Given the description of an element on the screen output the (x, y) to click on. 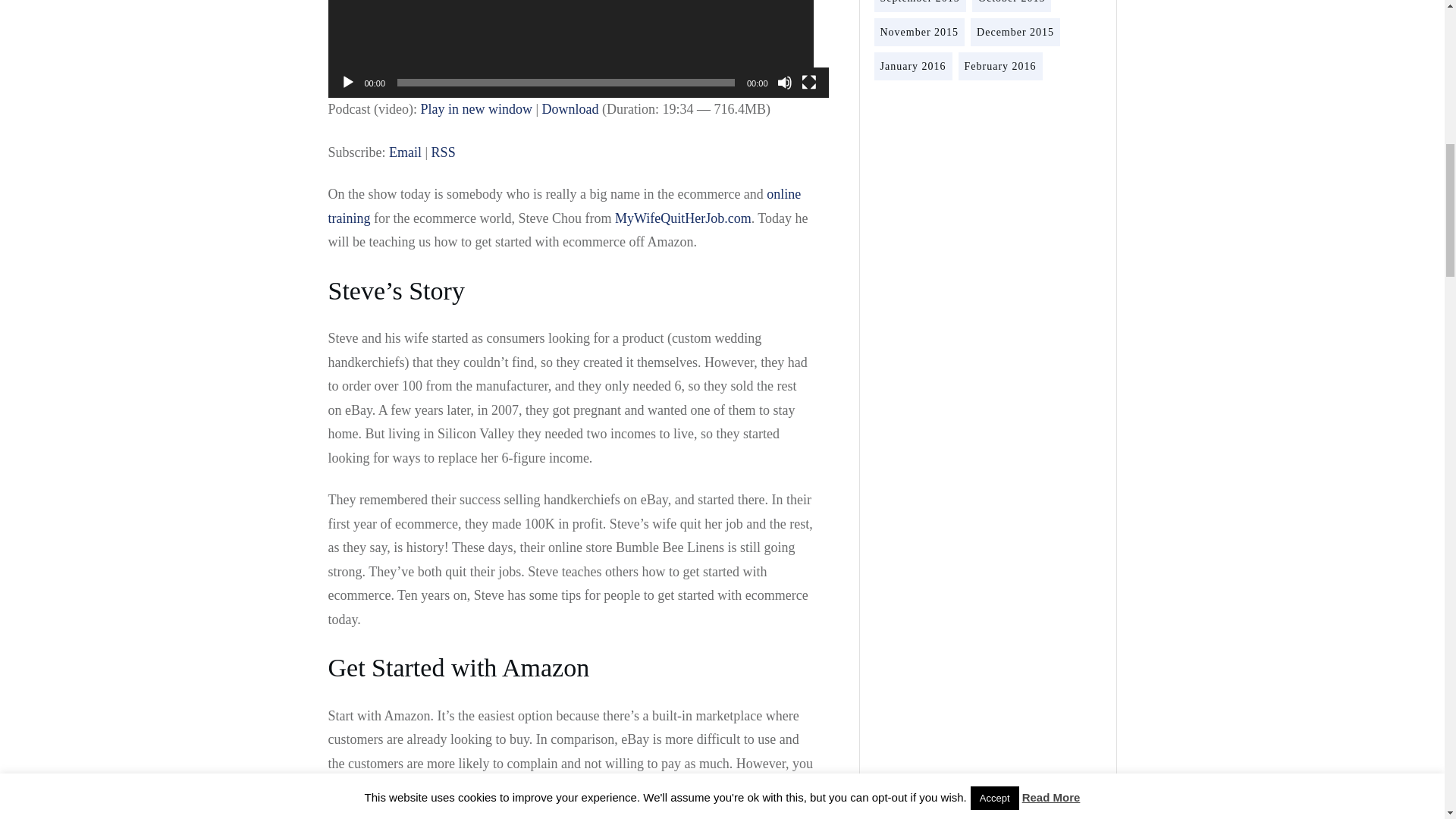
Mute (784, 82)
Subscribe via RSS (442, 151)
Play in new window (476, 109)
Download (569, 109)
online training (563, 206)
Subscribe by Email (405, 151)
RSS (442, 151)
Play in new window (476, 109)
Fullscreen (807, 82)
Play (347, 82)
Download (569, 109)
MyWifeQuitHerJob.com (682, 218)
Email (405, 151)
